Given the description of an element on the screen output the (x, y) to click on. 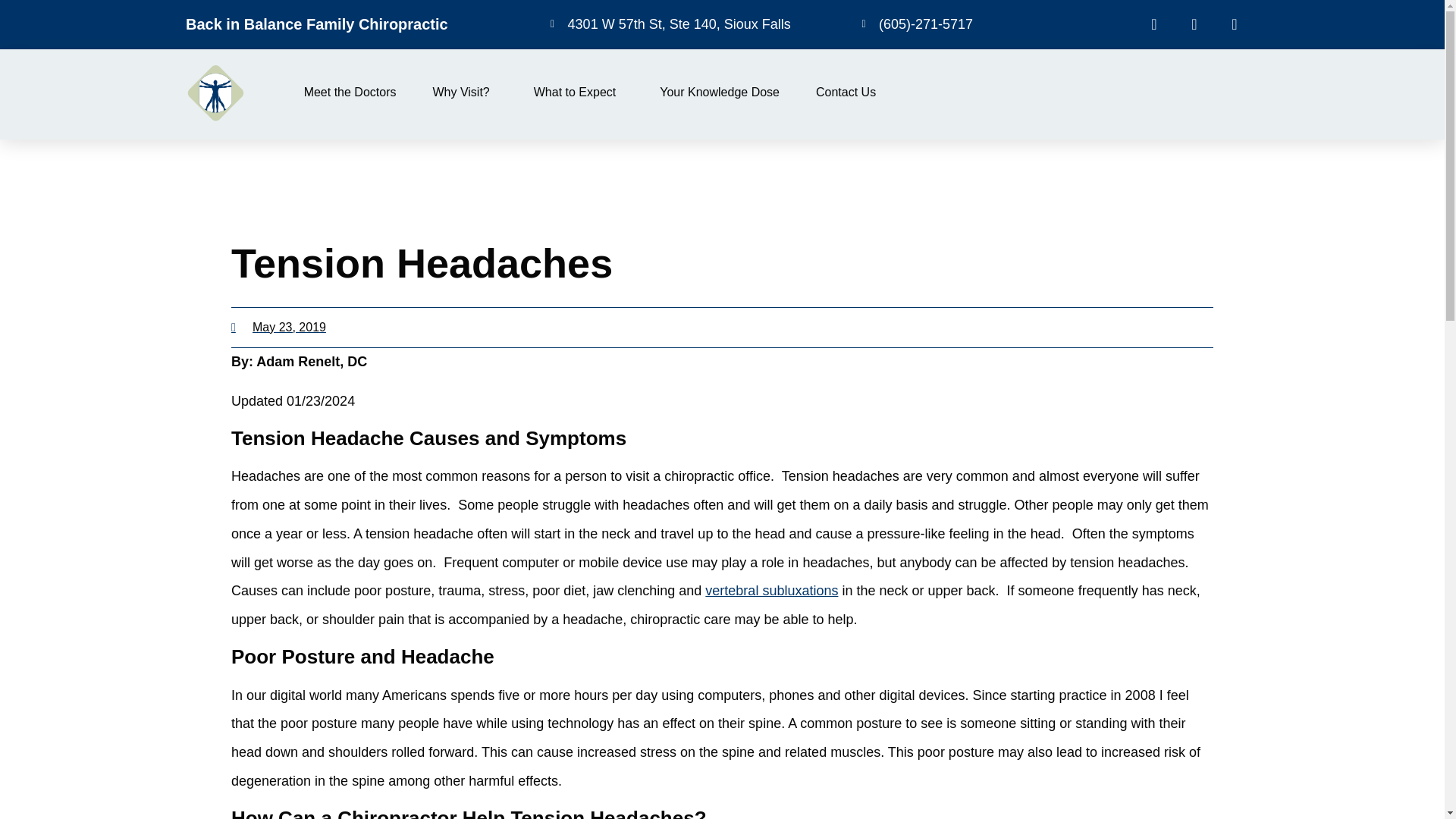
Why Visit? (464, 92)
4301 W 57th St, Ste 140, Sioux Falls (683, 23)
What to Expect (579, 92)
Your Knowledge Dose (718, 92)
Contact Us (845, 92)
May 23, 2019 (278, 327)
Meet the Doctors (350, 92)
vertebral subluxations (771, 590)
